Given the description of an element on the screen output the (x, y) to click on. 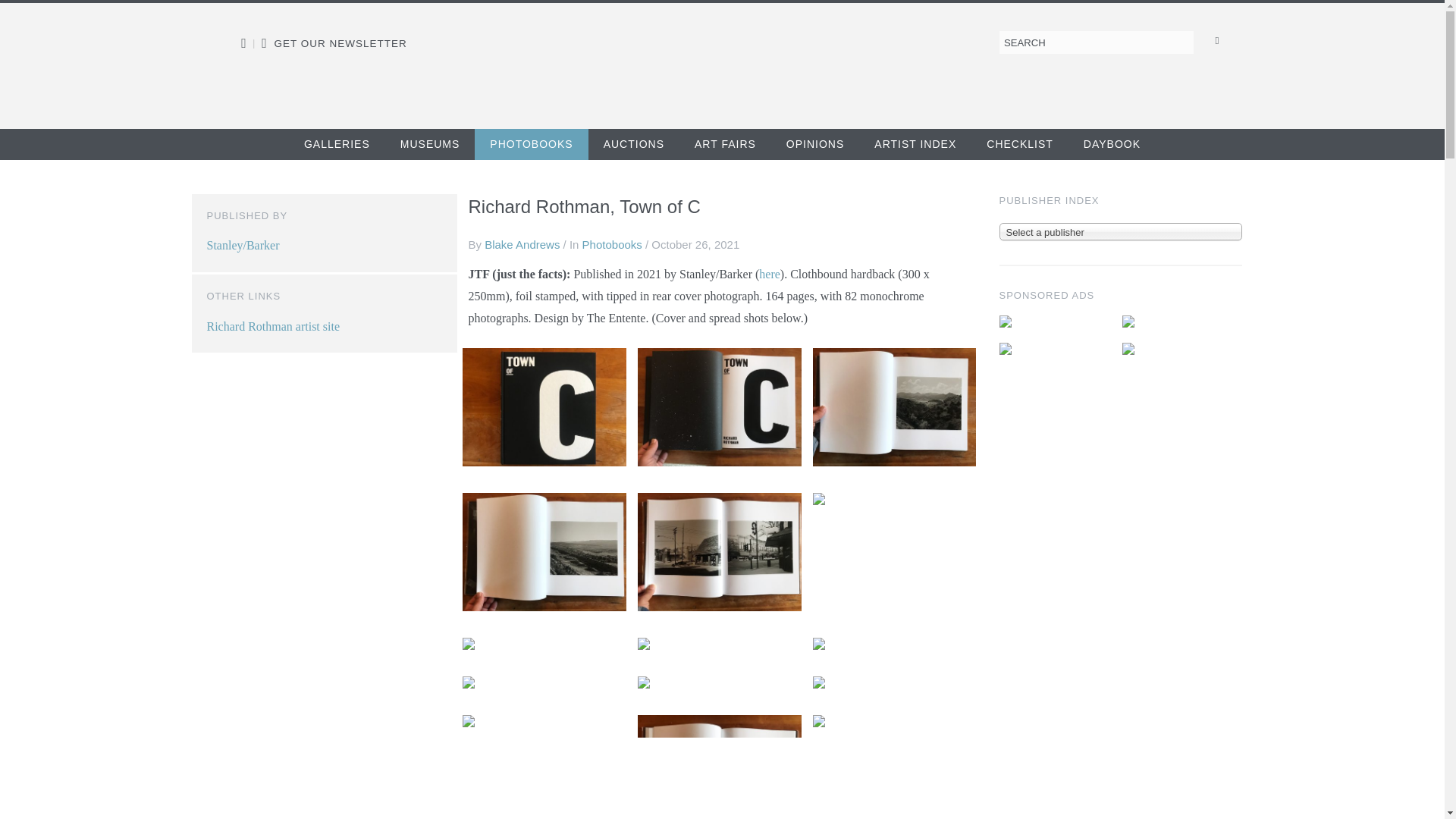
Skip to content (53, 139)
Photobooks (612, 244)
ART FAIRS (724, 143)
GALLERIES (336, 143)
AUCTIONS (633, 143)
Search for: (1095, 42)
here (769, 273)
MUSEUMS (430, 143)
CHECKLIST (1019, 143)
OPINIONS (815, 143)
